Given the description of an element on the screen output the (x, y) to click on. 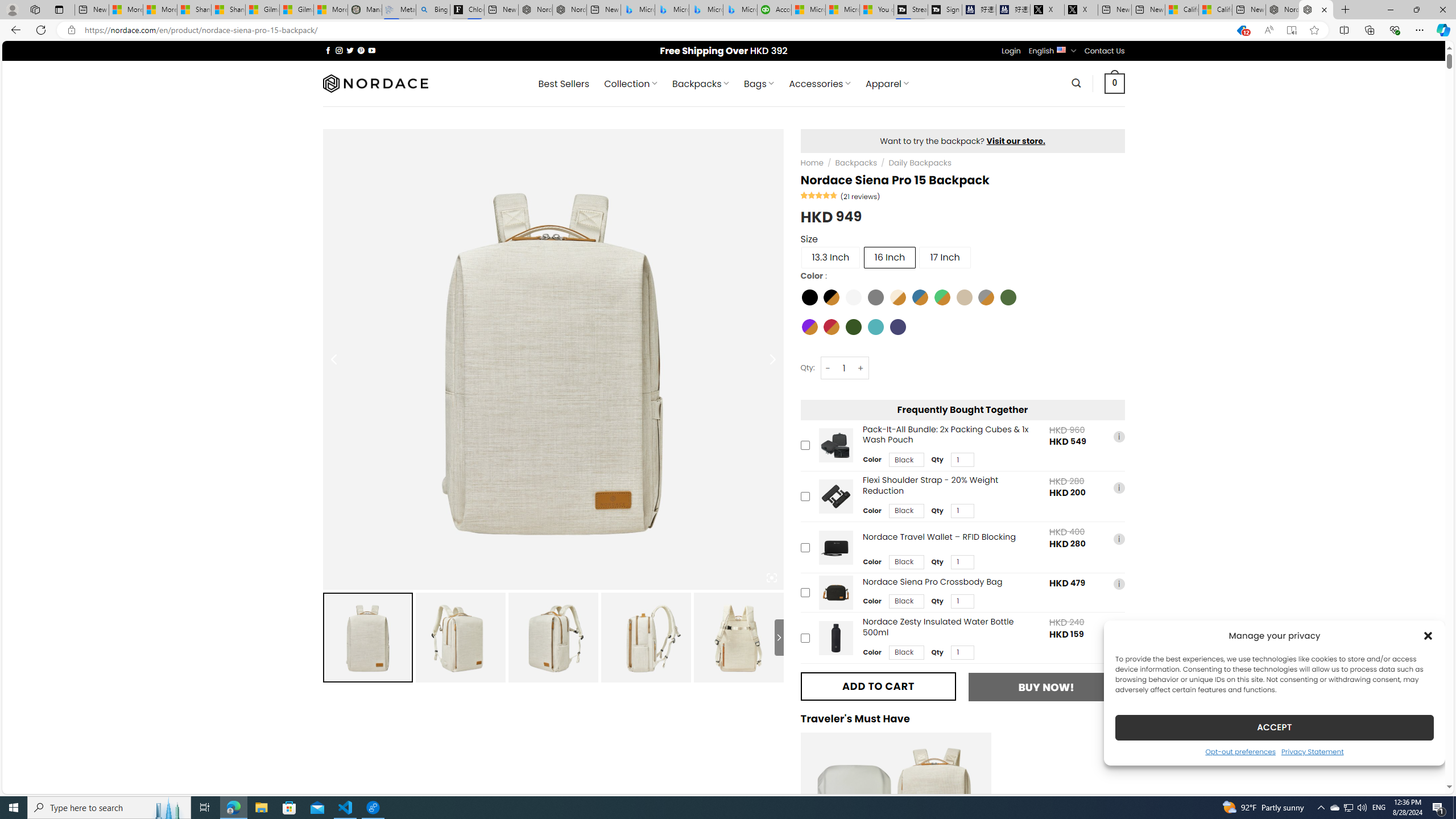
Rated 4.70 out of 5 (819, 194)
Bing Real Estate - Home sales and rental listings (432, 9)
Streaming Coverage | T3 (911, 9)
Follow on Facebook (327, 49)
Accounting Software for Accountants, CPAs and Bookkeepers (774, 9)
Gilma and Hector both pose tropical trouble for Hawaii (296, 9)
